Given the description of an element on the screen output the (x, y) to click on. 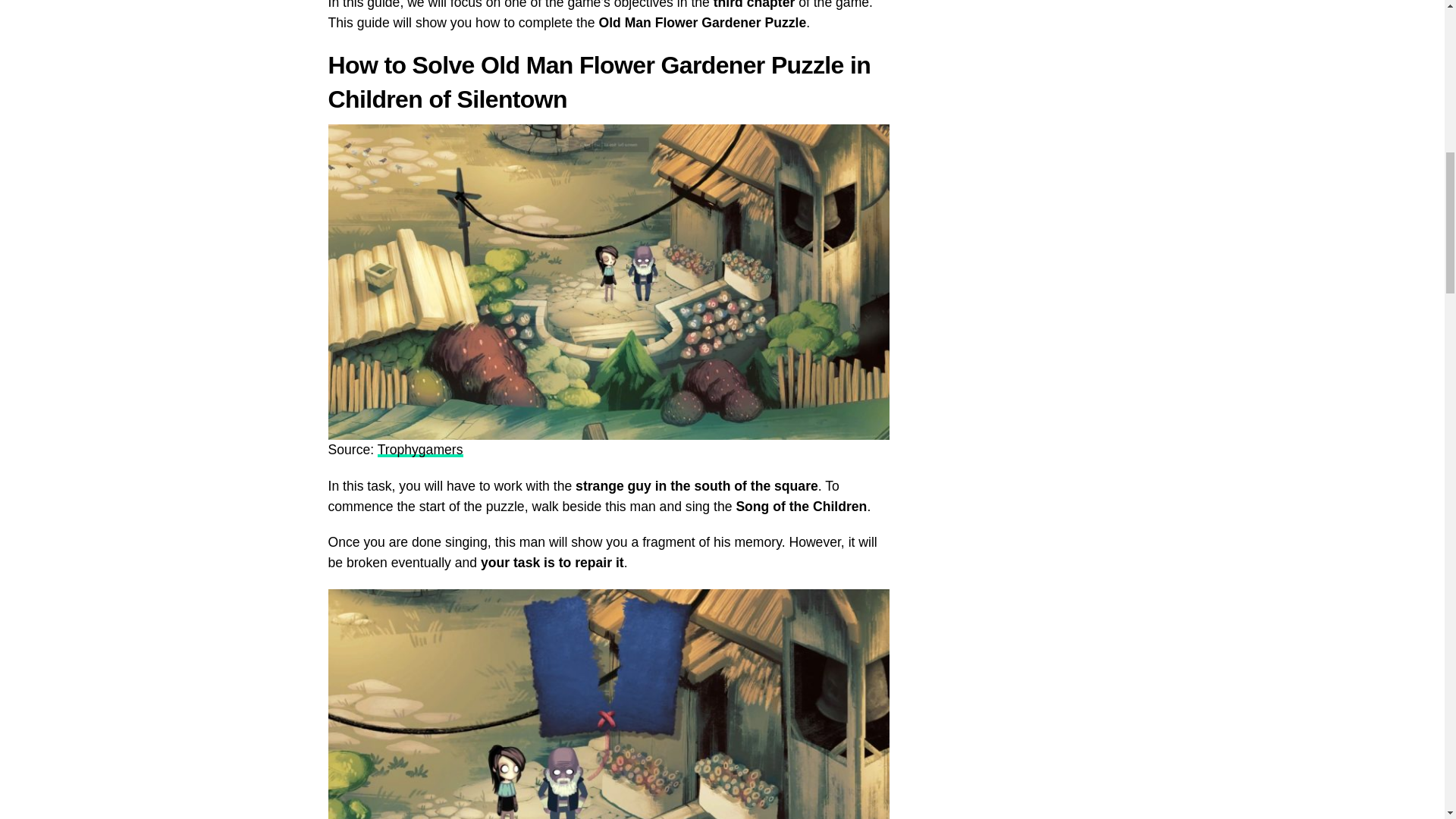
Trophygamers (420, 449)
